Given the description of an element on the screen output the (x, y) to click on. 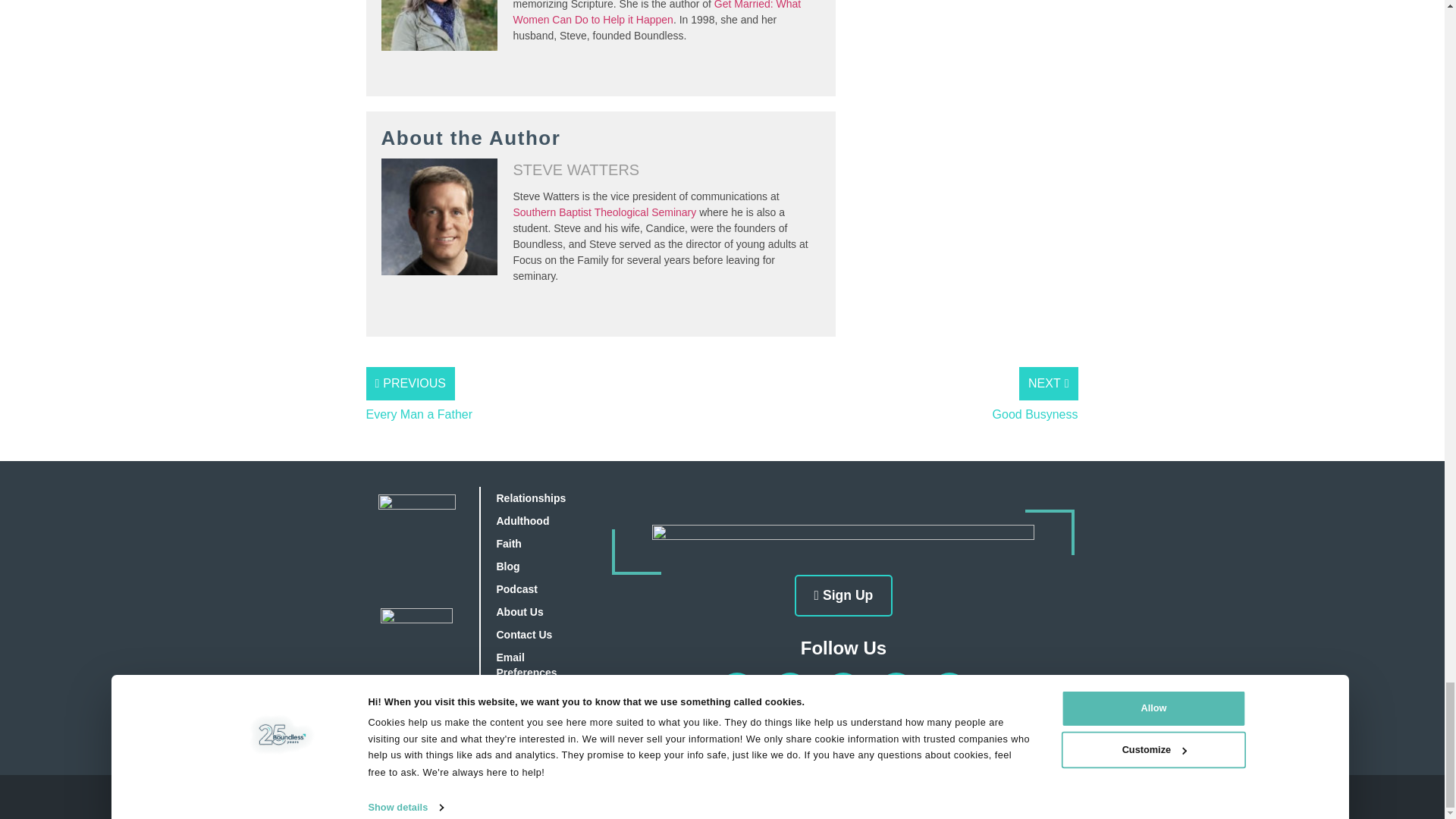
Focus on the Family (736, 796)
